Given the description of an element on the screen output the (x, y) to click on. 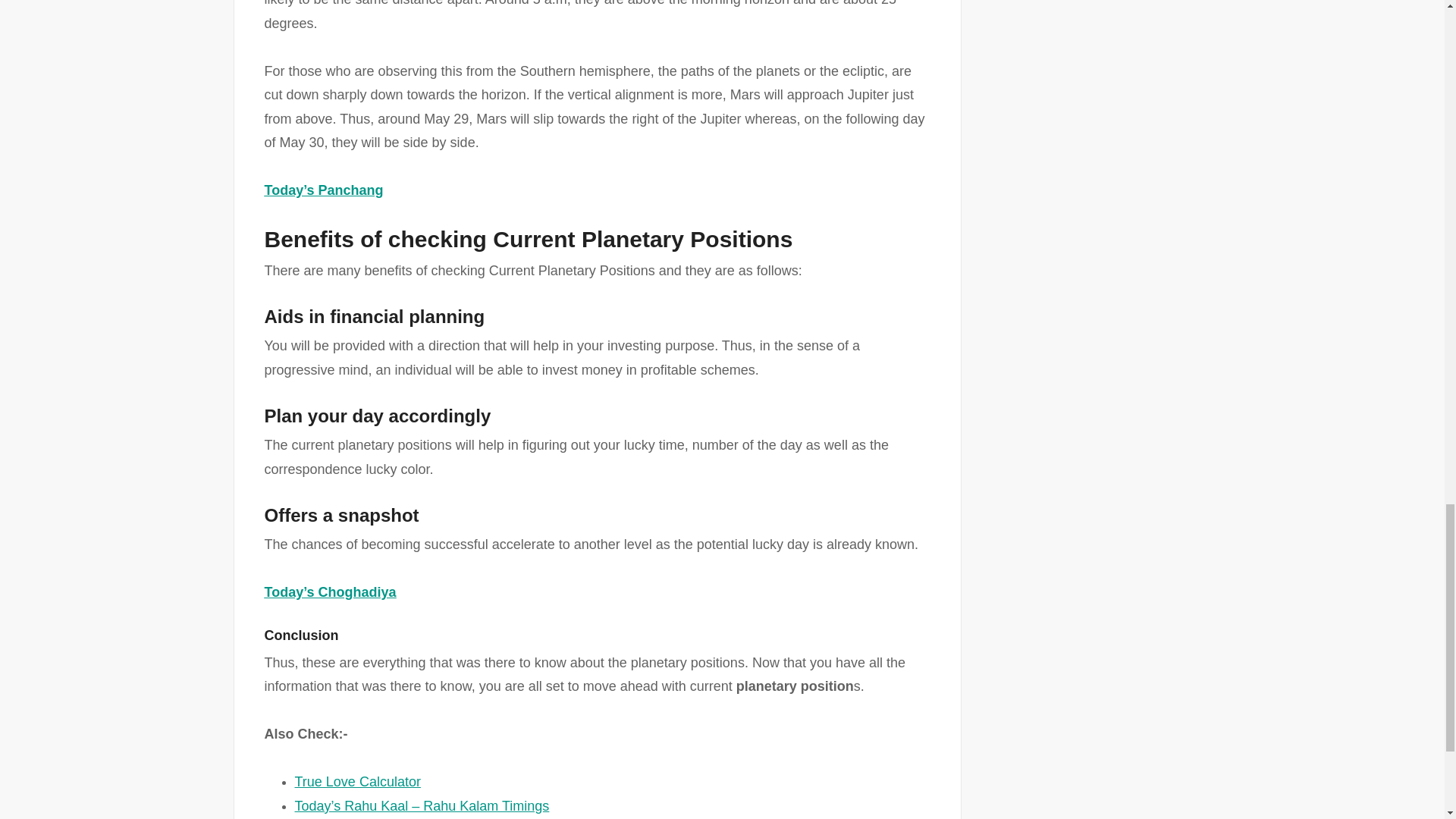
True Love Calculator (357, 781)
